Given the description of an element on the screen output the (x, y) to click on. 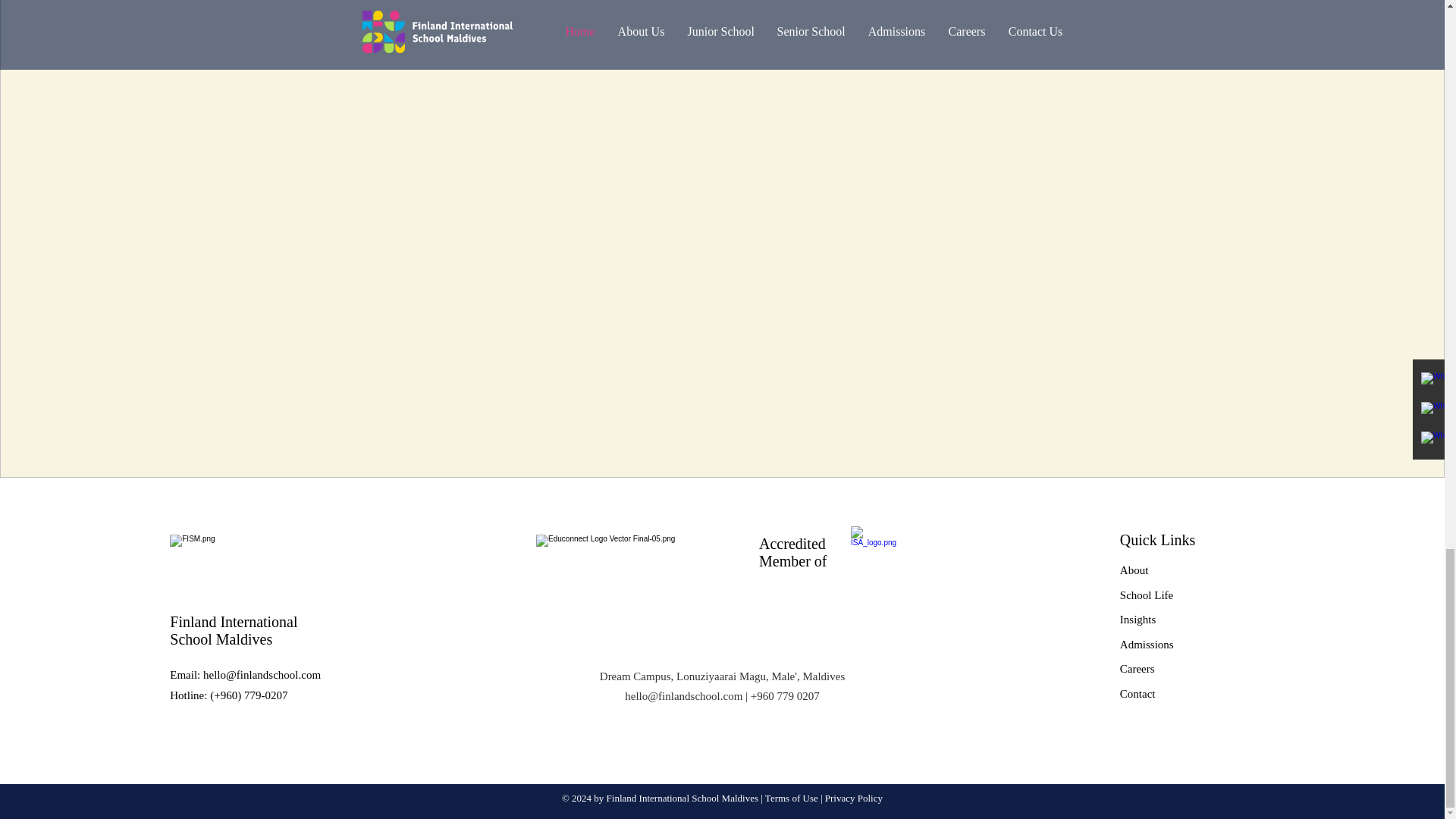
Insights (1137, 619)
Contact (1137, 693)
Admissions (1146, 644)
Careers (1136, 667)
School Life (1146, 594)
About (1133, 570)
